Given the description of an element on the screen output the (x, y) to click on. 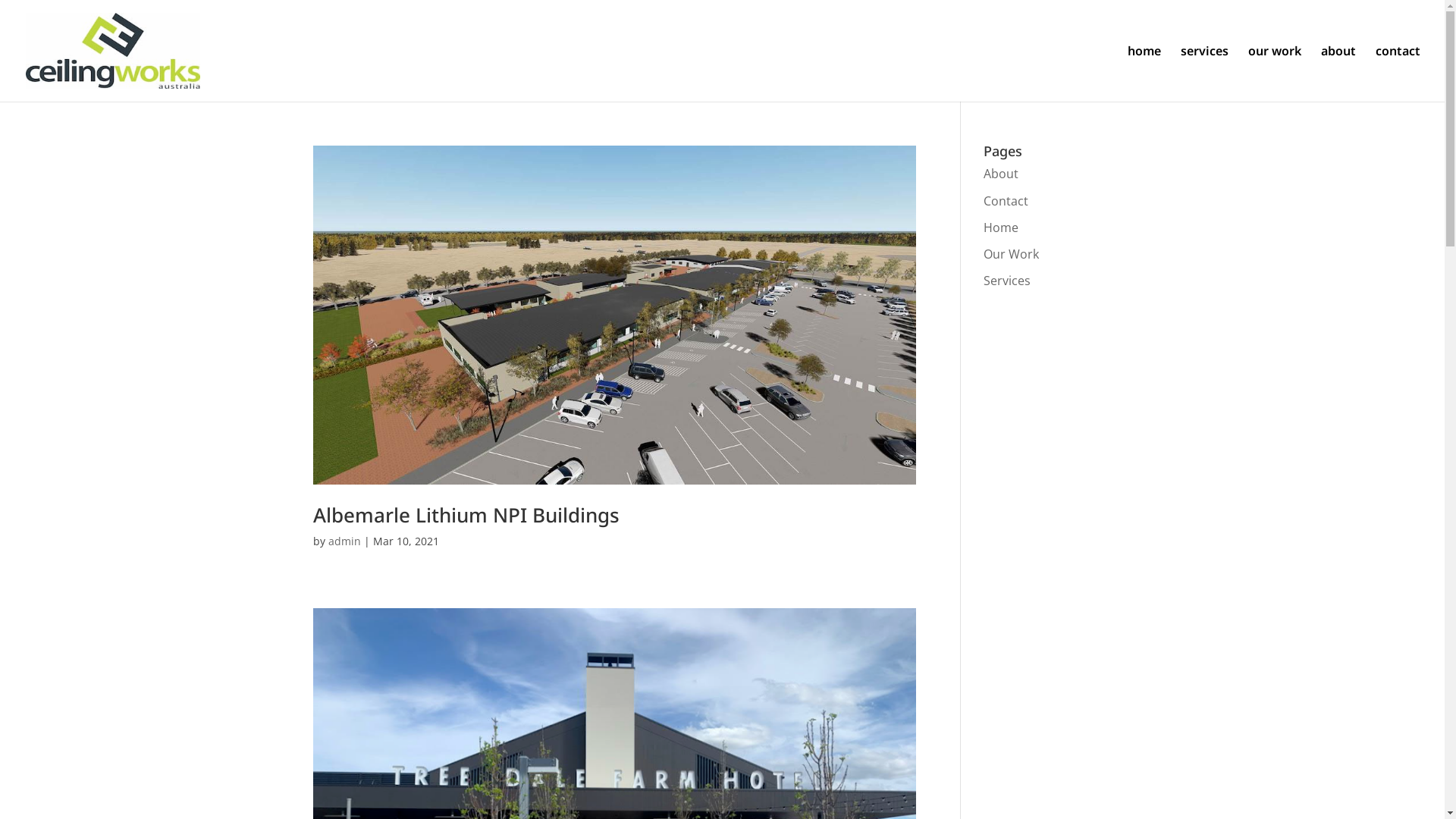
Our Work Element type: text (1010, 253)
about Element type: text (1338, 73)
Services Element type: text (1006, 280)
our work Element type: text (1274, 73)
Contact Element type: text (1005, 200)
contact Element type: text (1397, 73)
admin Element type: text (343, 540)
home Element type: text (1144, 73)
Home Element type: text (1000, 227)
Albemarle Lithium NPI Buildings Element type: text (465, 514)
services Element type: text (1204, 73)
About Element type: text (1000, 173)
